Given the description of an element on the screen output the (x, y) to click on. 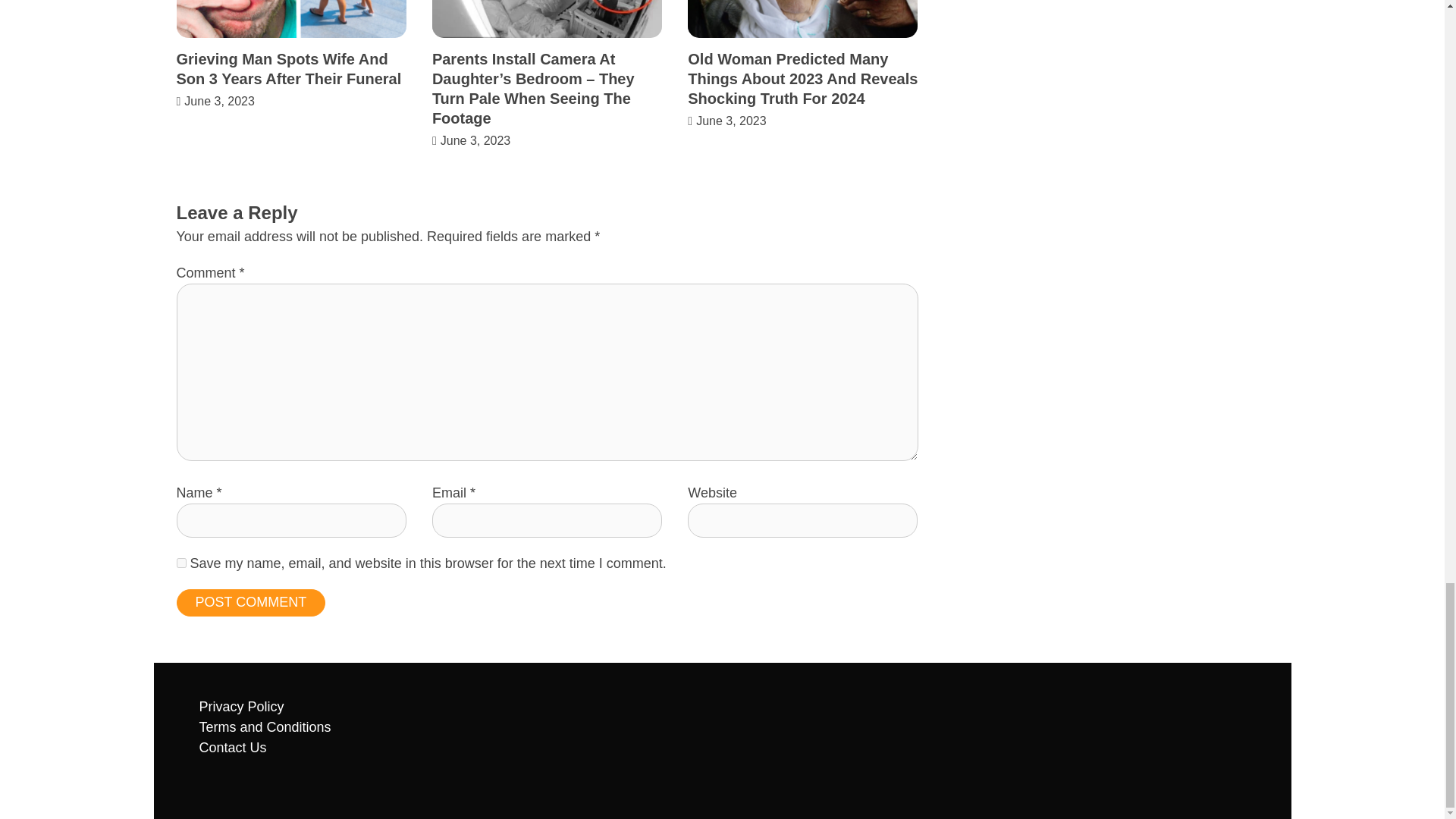
June 3, 2023 (219, 101)
June 3, 2023 (476, 140)
June 3, 2023 (731, 120)
yes (181, 562)
Post Comment (250, 601)
Post Comment (250, 601)
Grieving Man Spots Wife And Son 3 Years After Their Funeral (288, 68)
